Given the description of an element on the screen output the (x, y) to click on. 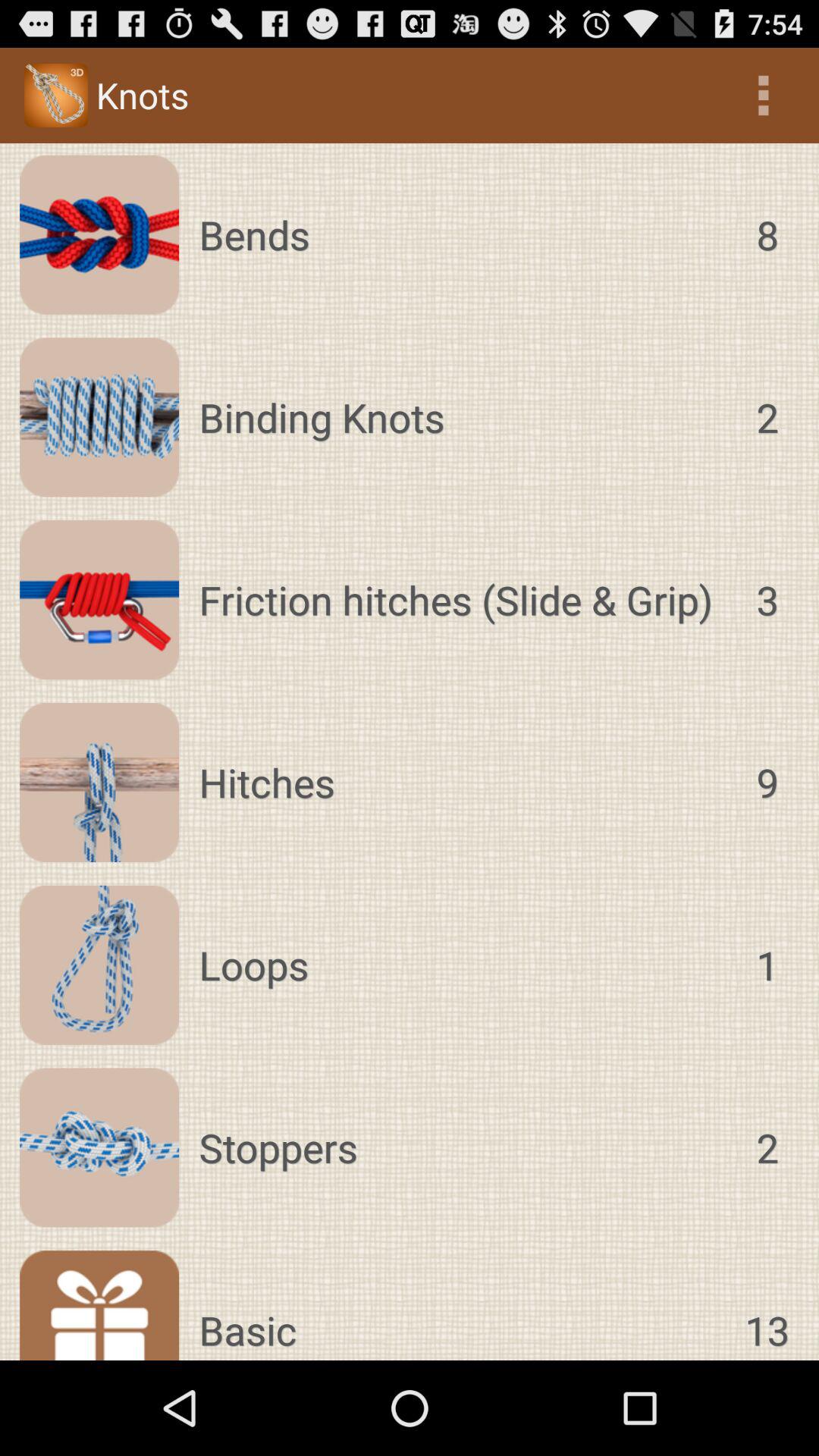
tap item next to basic icon (767, 1305)
